Given the description of an element on the screen output the (x, y) to click on. 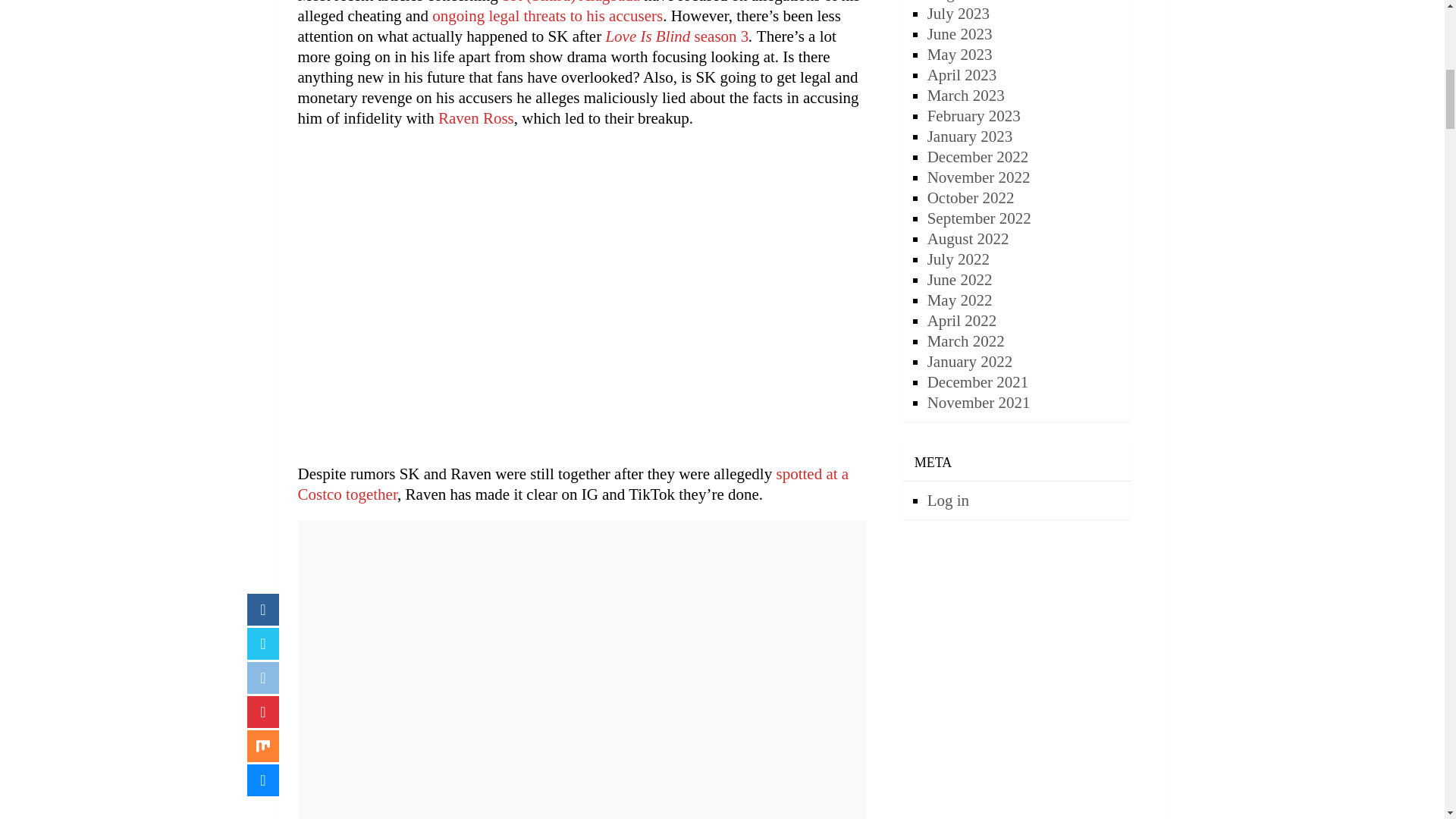
spotted at a Costco together (572, 484)
Raven Ross (475, 117)
ongoing legal threats to his accusers (547, 15)
Love Is Blind season 3 (676, 36)
